Given the description of an element on the screen output the (x, y) to click on. 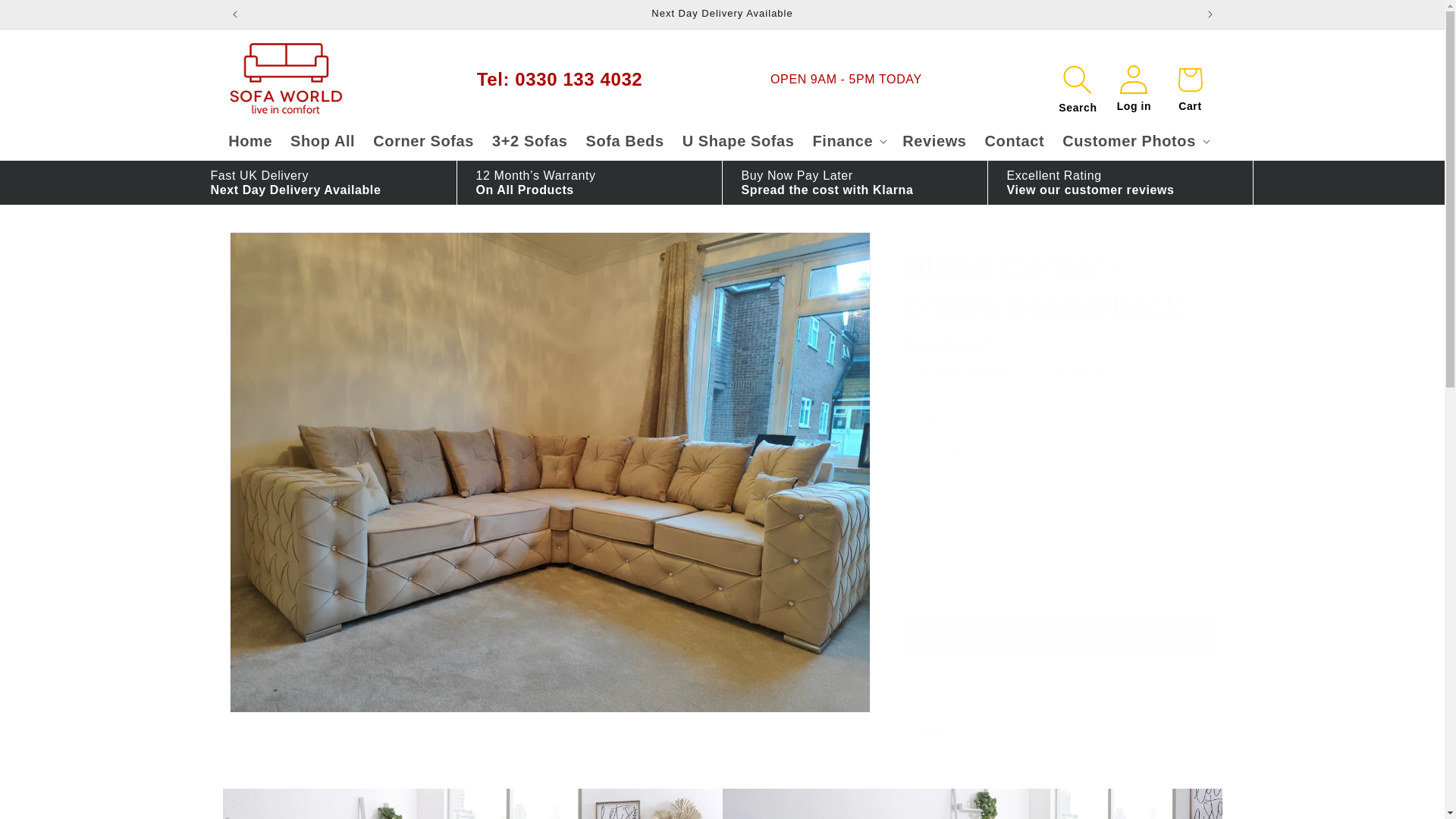
Home (250, 140)
Log in (1133, 79)
1 (955, 452)
U Shape Sofas (737, 140)
Cart (1189, 79)
Shop All (322, 140)
Sofa Beds (624, 140)
Corner Sofas (423, 140)
Skip to content (45, 17)
